Given the description of an element on the screen output the (x, y) to click on. 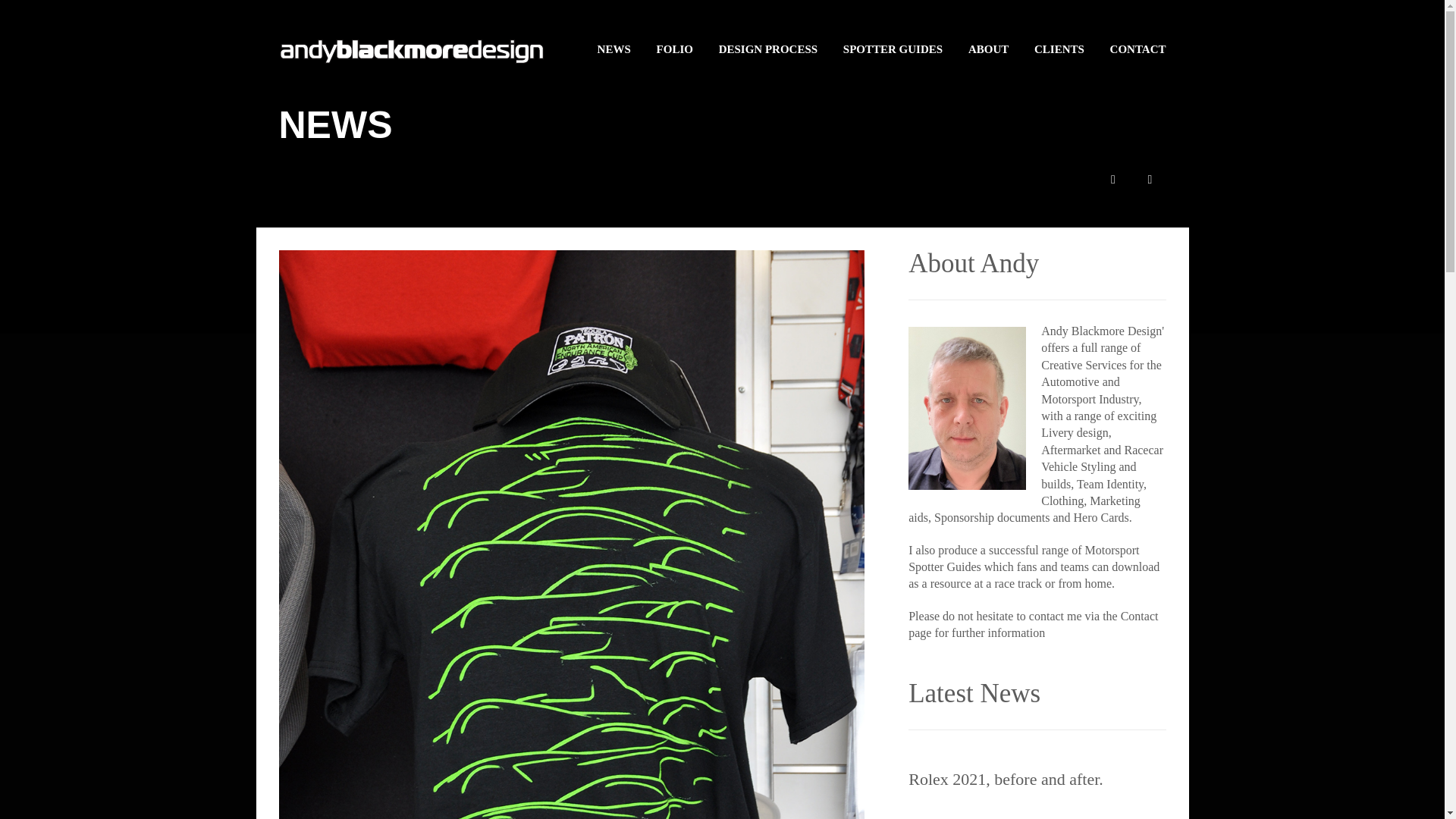
SPOTTER GUIDES (892, 36)
Le Mans 2020 (956, 818)
Andy Blackmore Design (411, 45)
Rolex 2021, before and after. (1005, 779)
DESIGN PROCESS (767, 36)
